Given the description of an element on the screen output the (x, y) to click on. 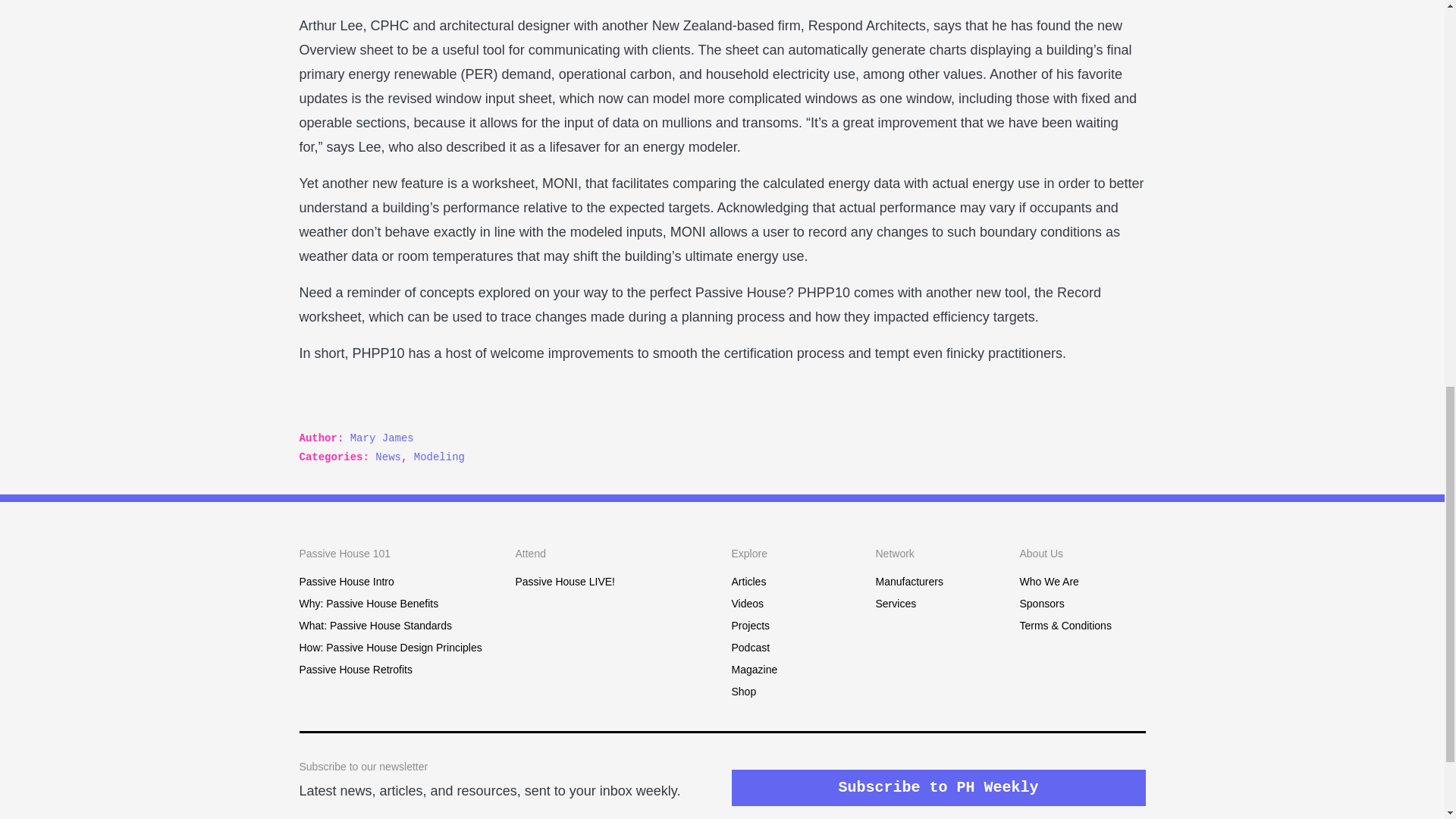
Passive House LIVE! (565, 581)
Mary James (381, 438)
Passive House Retrofits (355, 669)
Passive House Intro (345, 581)
Modeling (438, 457)
How: Passive House Design Principles (389, 647)
Why: Passive House Benefits (368, 603)
Articles (747, 581)
What: Passive House Standards (374, 625)
News (388, 457)
